Given the description of an element on the screen output the (x, y) to click on. 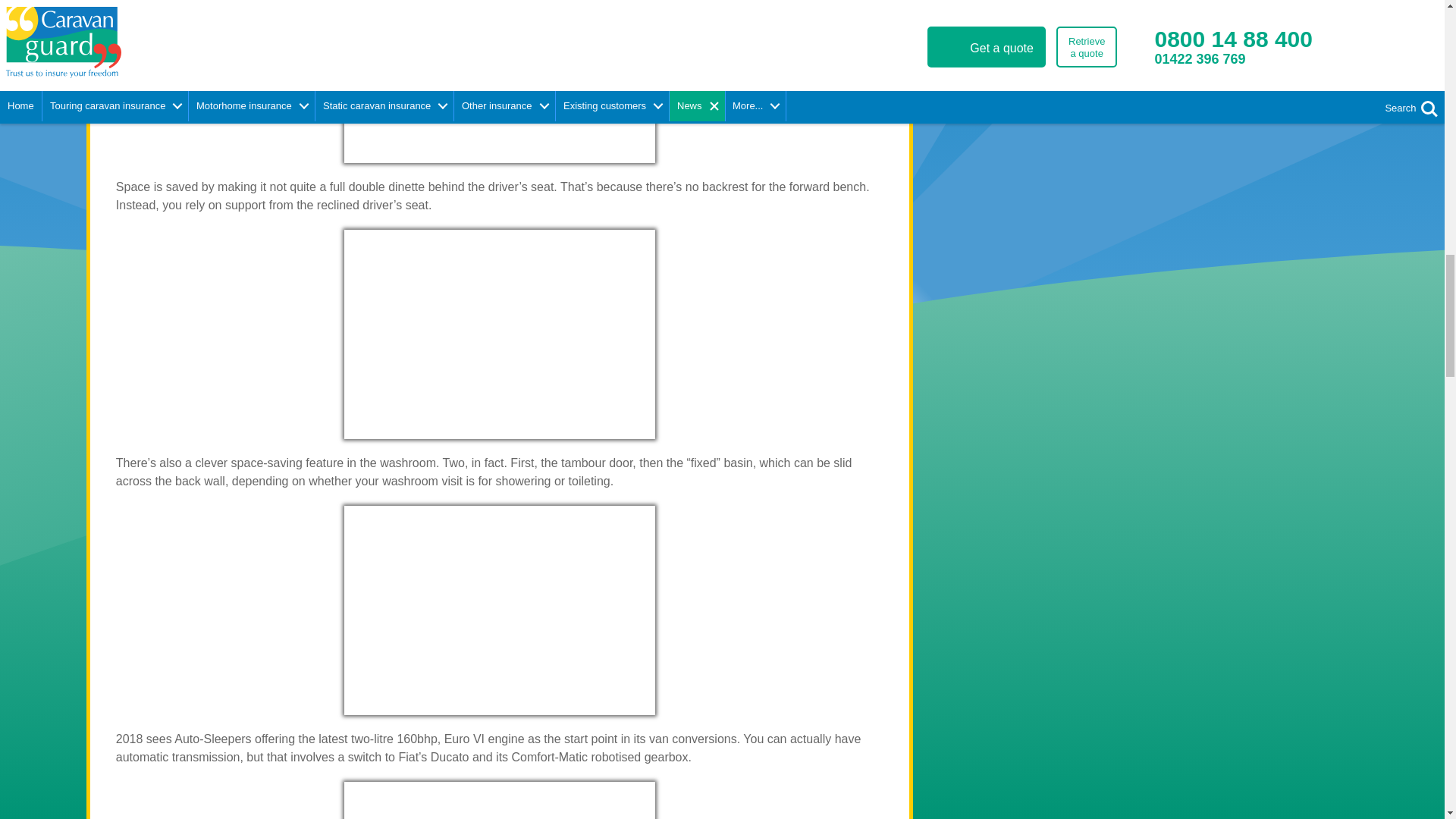
Auto-Sleeper Fairford Seating (499, 334)
Auto-Sleeper Fairford Exterior (499, 800)
Auto-Sleeper Fairford Washroom (499, 610)
Auto-Sleeper Fairford Kitchen (499, 81)
